Given the description of an element on the screen output the (x, y) to click on. 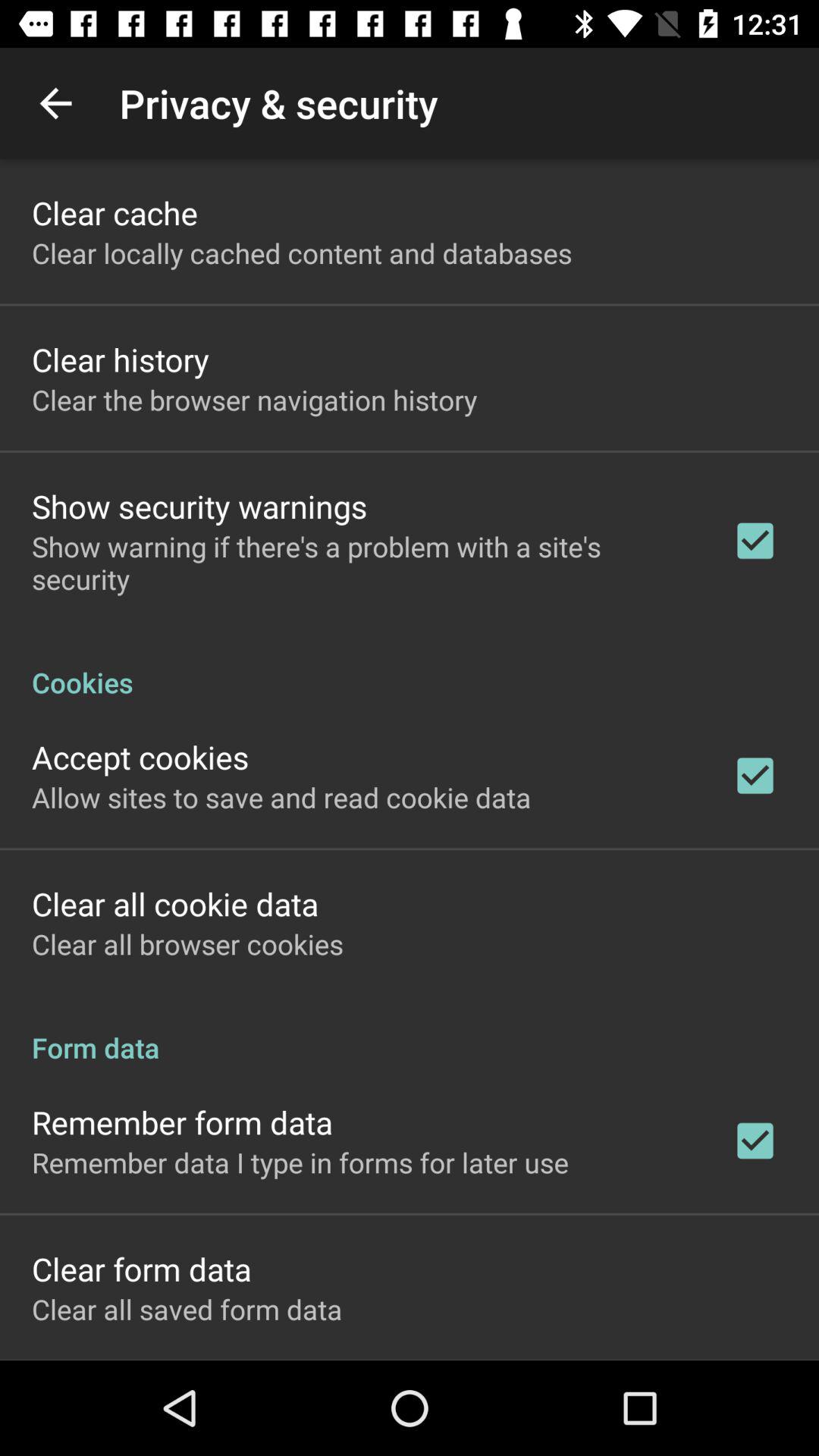
turn on the accept cookies app (140, 756)
